Given the description of an element on the screen output the (x, y) to click on. 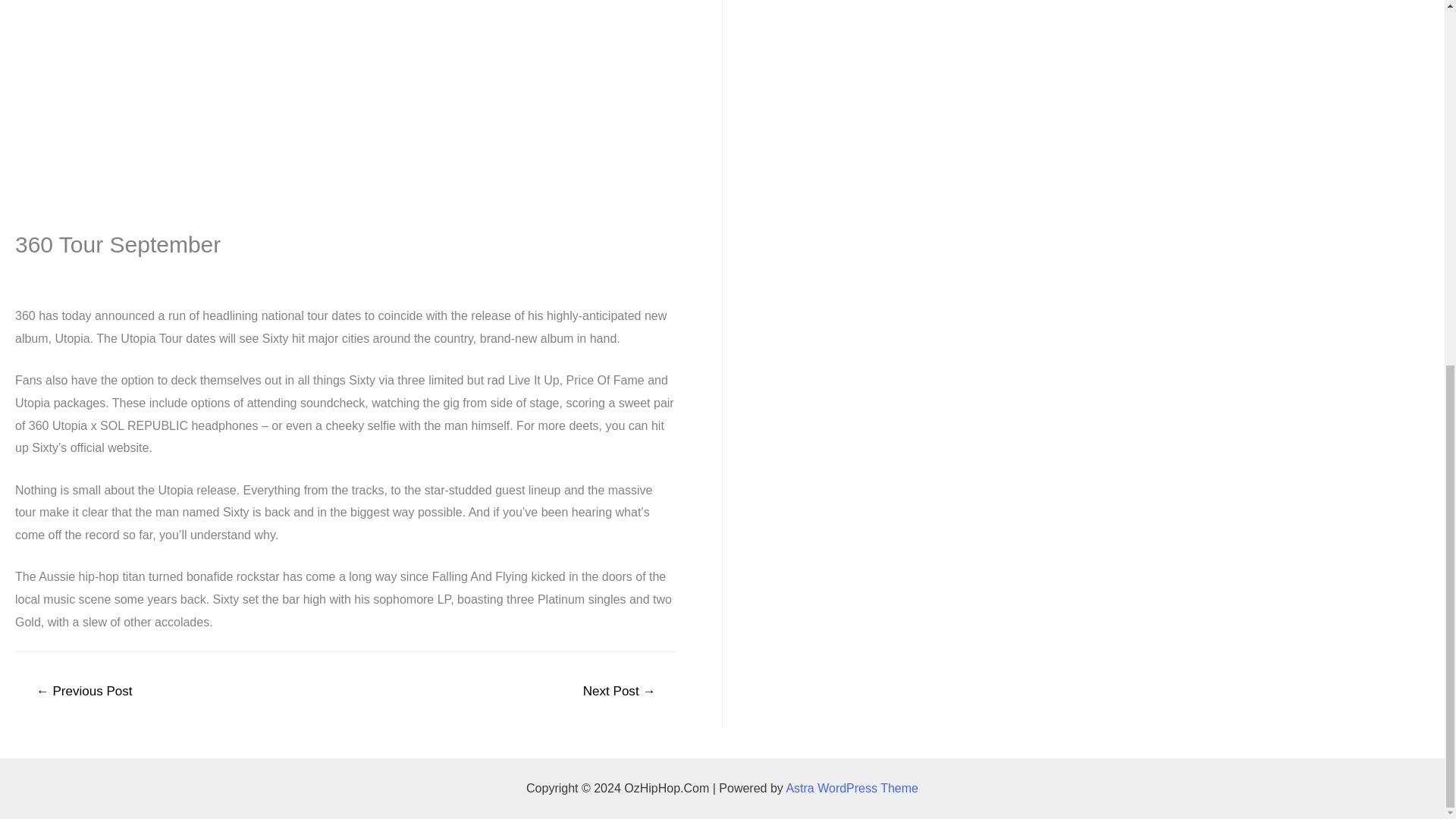
Australian (41, 271)
OZHH Lifer (127, 271)
View all posts by OZHH Lifer (127, 271)
